Given the description of an element on the screen output the (x, y) to click on. 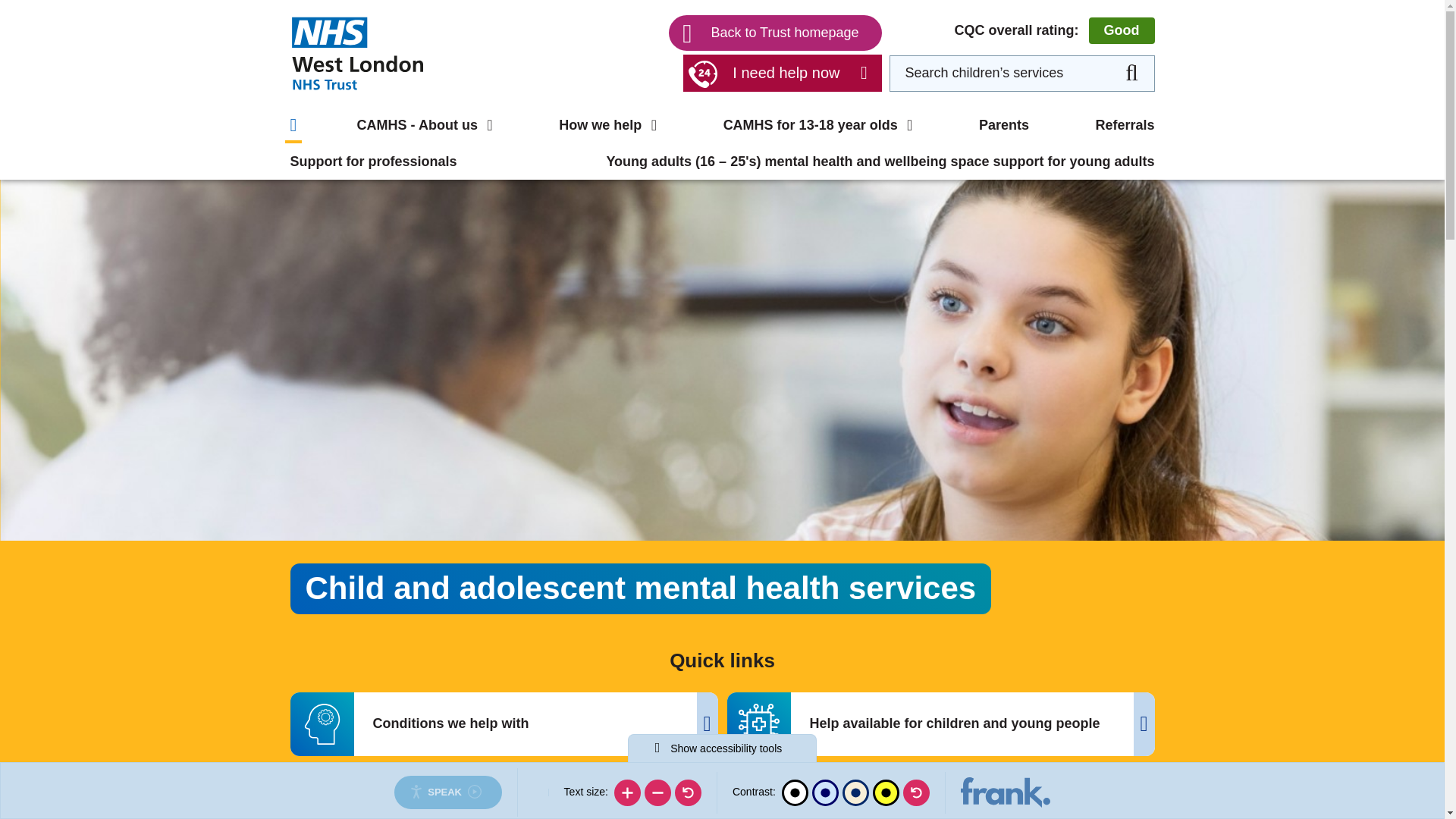
Safeguarding children - CAMHS (400, 102)
Listen with the ReachDeck Toolbar (447, 792)
Homepage (356, 52)
What we can help with (369, 30)
People you may meet (971, 67)
CQC overall rating: Good (1053, 30)
Medications (940, 30)
Help available for children and young people (719, 77)
How we help (607, 125)
Back to Trust homepage (774, 32)
